Given the description of an element on the screen output the (x, y) to click on. 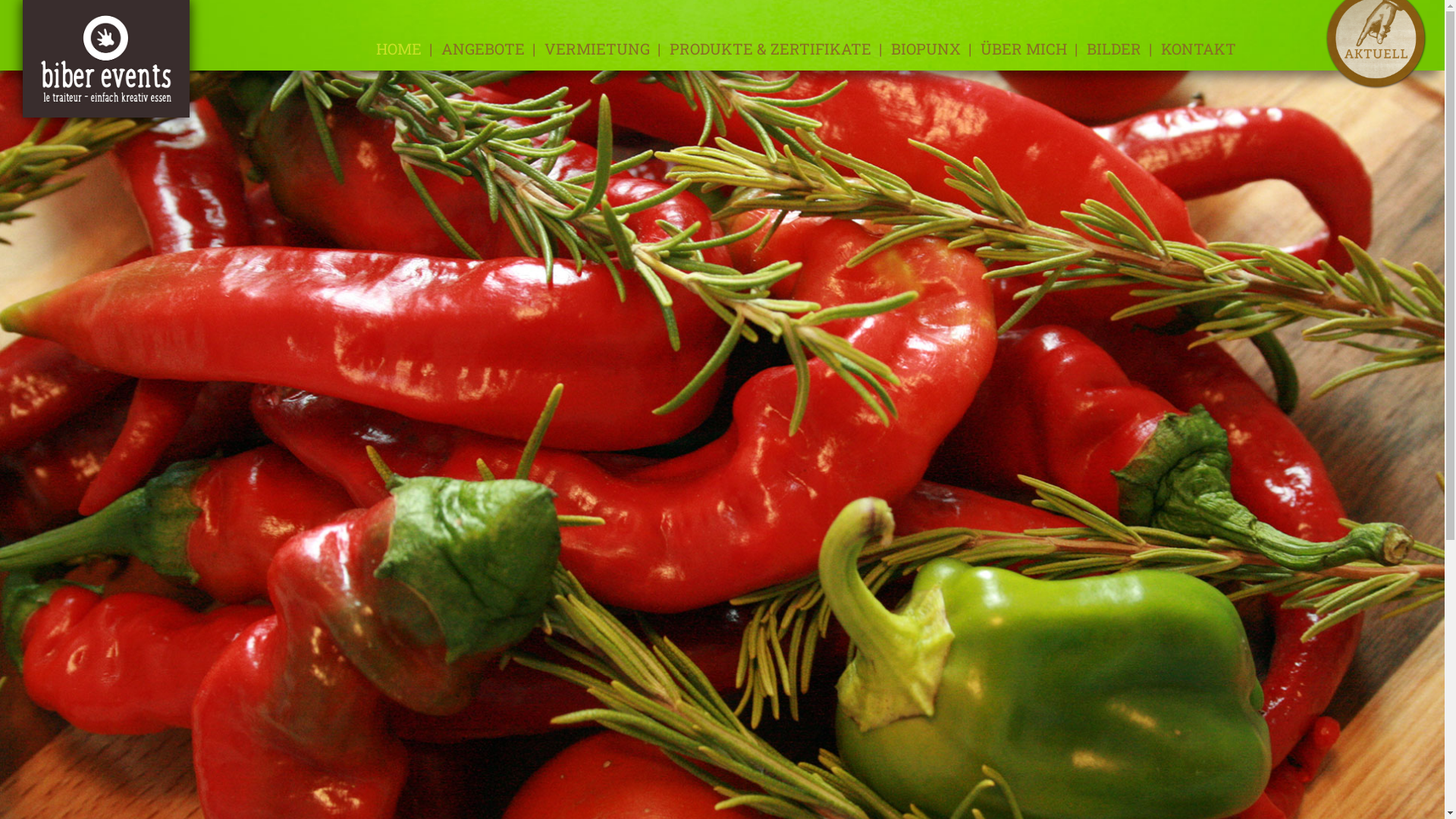
KONTAKT Element type: text (1197, 48)
PRODUKTE & ZERTIFIKATE Element type: text (769, 48)
BIOPUNX Element type: text (925, 48)
BILDER Element type: text (1112, 48)
ANGEBOTE Element type: text (482, 48)
VERMIETUNG Element type: text (596, 48)
HOME Element type: text (398, 48)
